Given the description of an element on the screen output the (x, y) to click on. 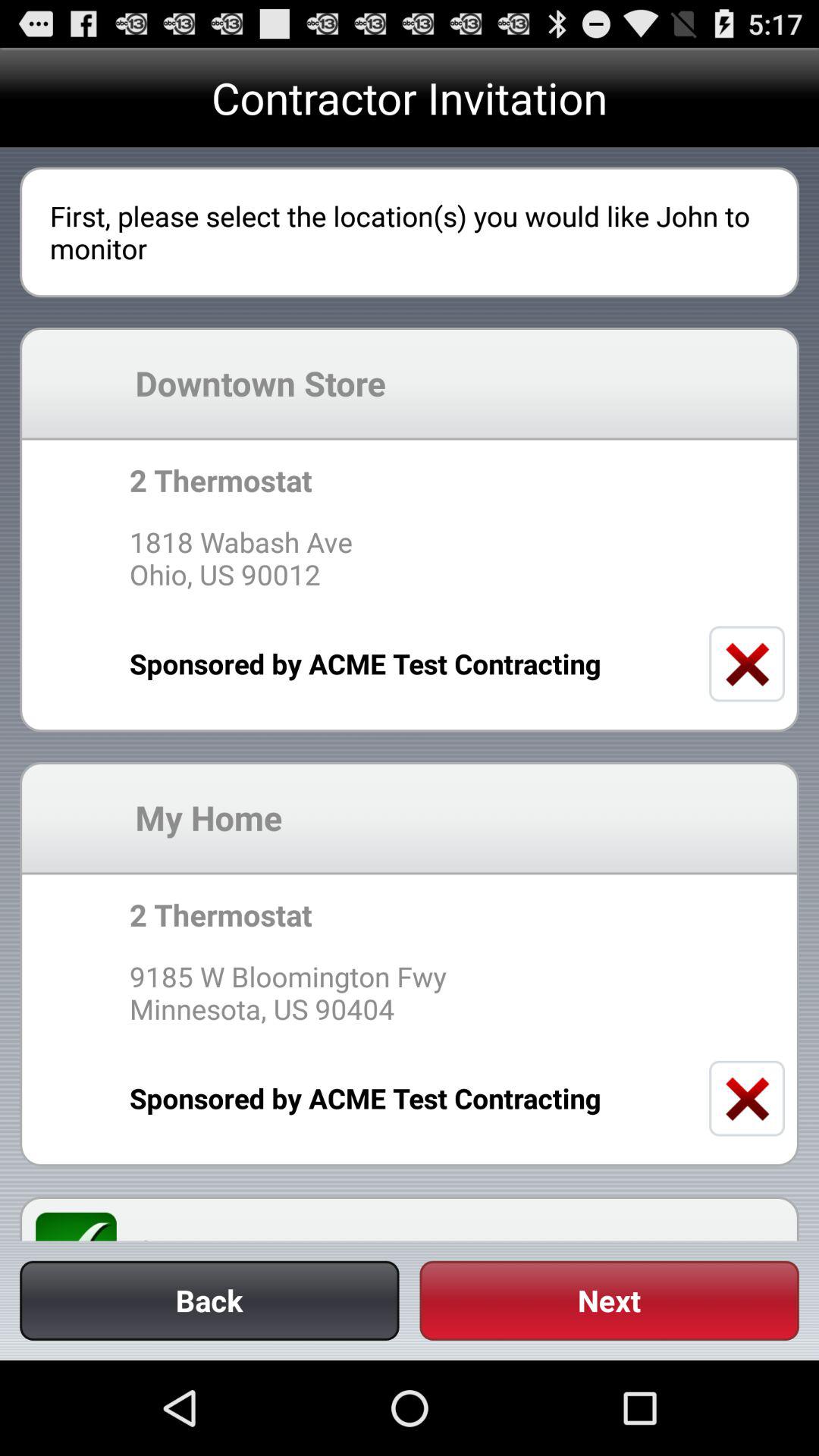
press the button above back item (85, 1226)
